Given the description of an element on the screen output the (x, y) to click on. 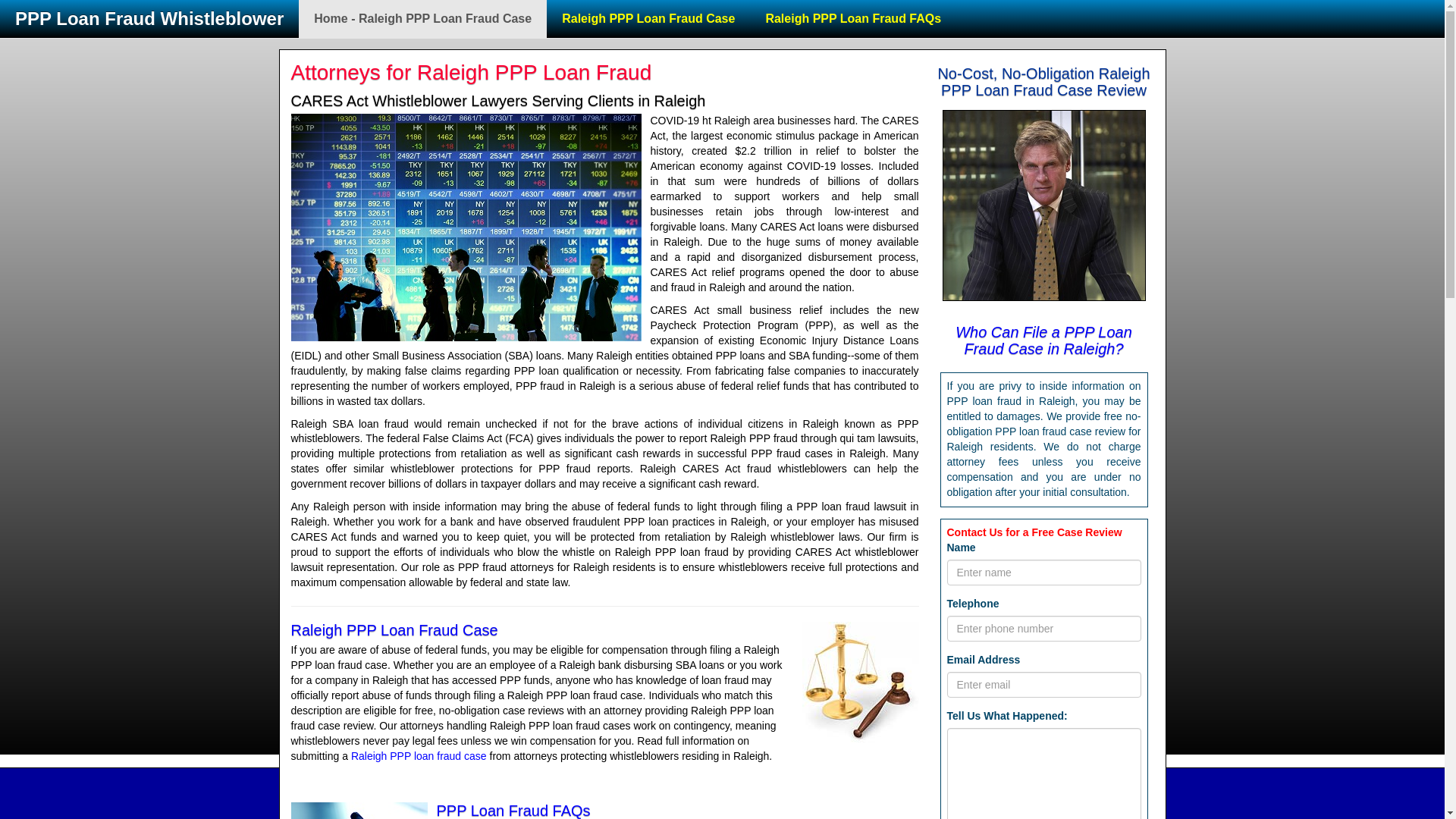
Raleigh PPP Loan Fraud Case (394, 629)
PPP Loan Fraud FAQs (513, 810)
Who Can File a PPP Loan Fraud Case in Raleigh? (1043, 340)
Home - Raleigh PPP Loan Fraud Case (422, 18)
Raleigh PPP loan fraud case (418, 756)
PPP Loan Fraud Whistleblower (149, 17)
Raleigh CARES Act PPP Fraud FAQ (513, 810)
Raleigh PPP Loan Fraud FAQs (852, 18)
Raleigh PPP Loan Fraud Case (394, 629)
Raleigh PPP Loan Fraud Case (648, 18)
Raleigh PPP Loan Fraud Case (418, 756)
